Given the description of an element on the screen output the (x, y) to click on. 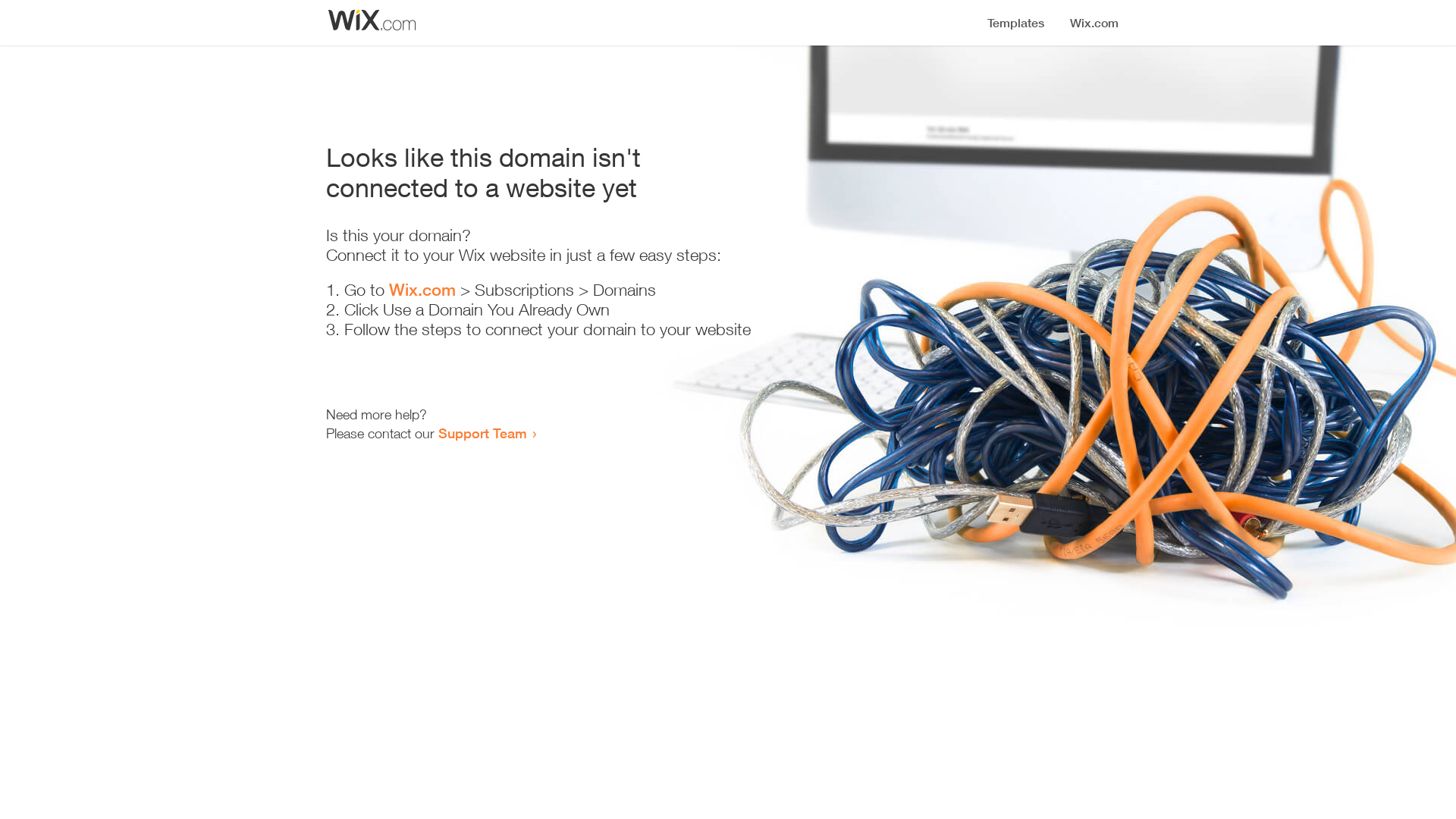
Support Team Element type: text (482, 432)
Wix.com Element type: text (422, 289)
